Given the description of an element on the screen output the (x, y) to click on. 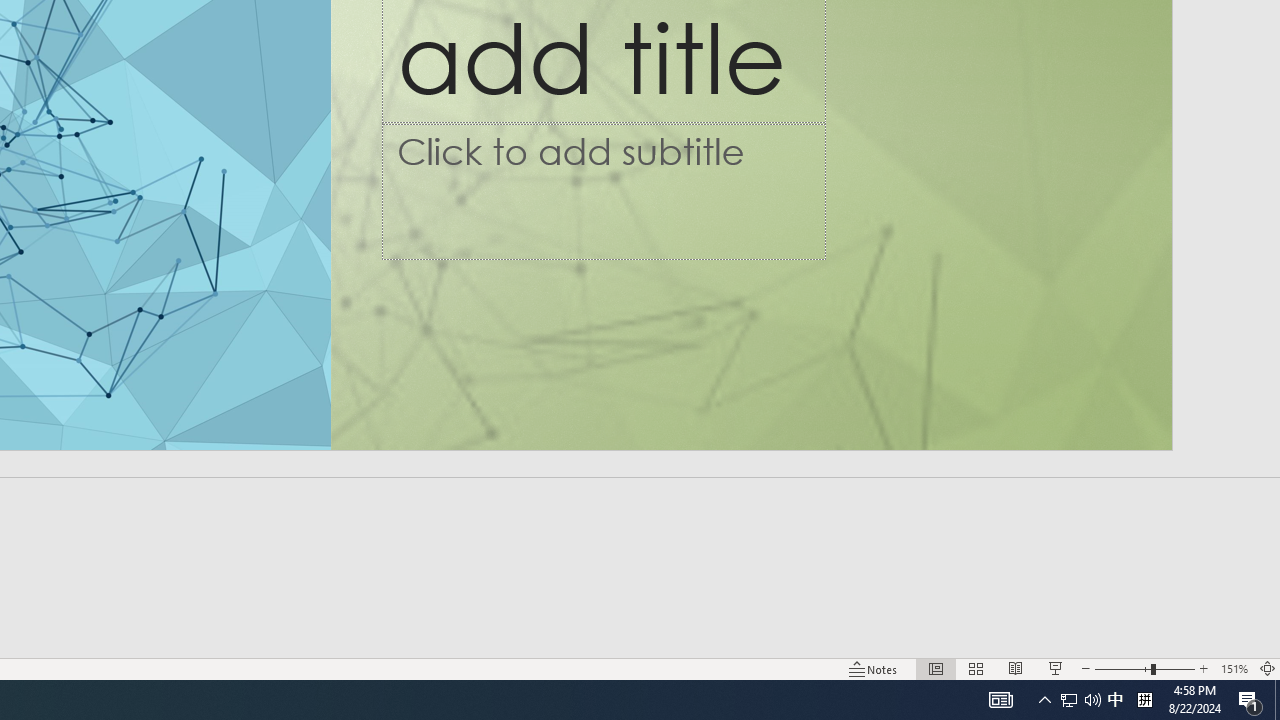
Zoom 151% (1234, 668)
